Given the description of an element on the screen output the (x, y) to click on. 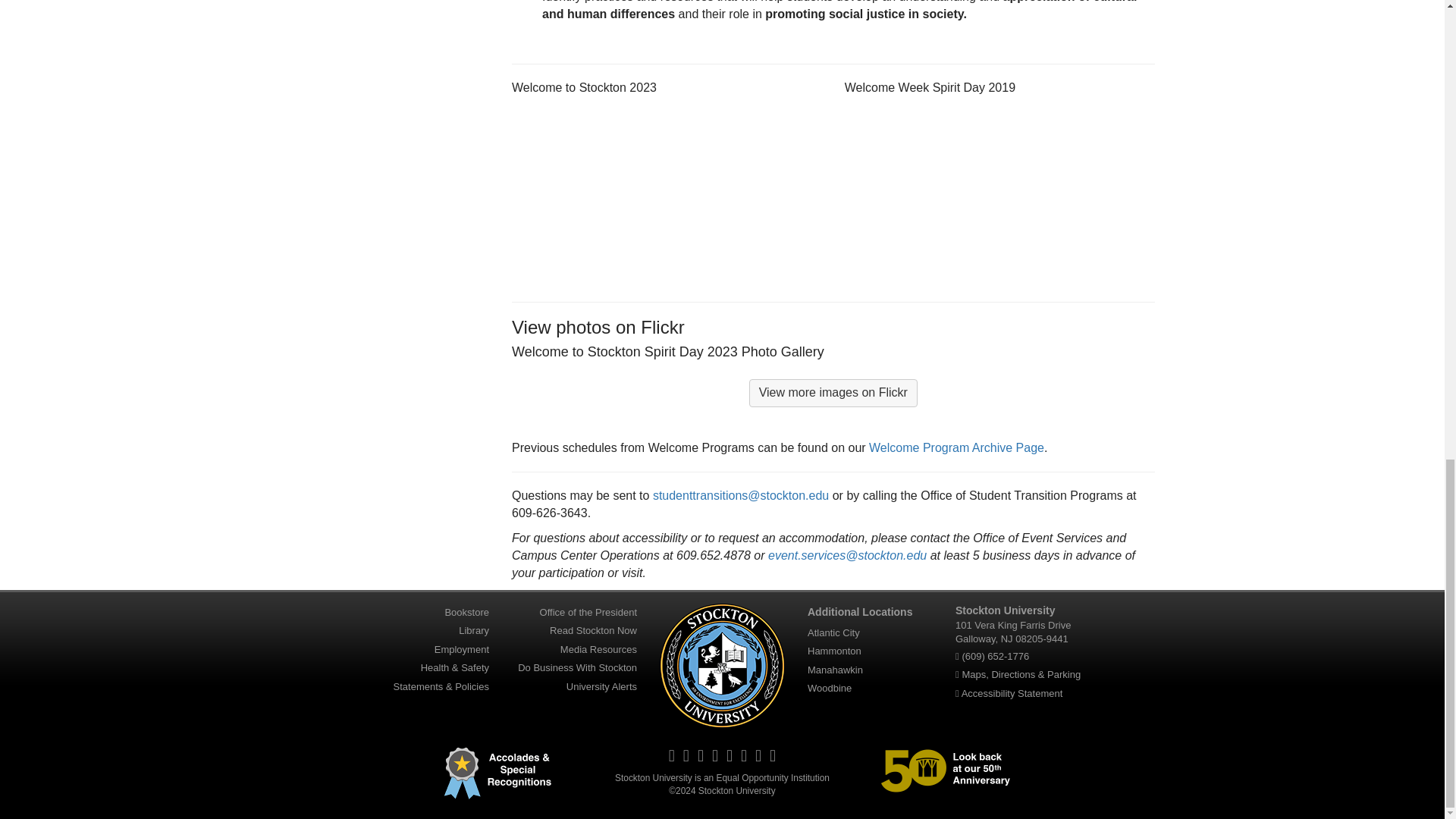
Stockton University Welcome Programs 2023 (667, 191)
Welcome Week Spirit Day 2019 (999, 191)
Call with Google Voice (994, 655)
